Given the description of an element on the screen output the (x, y) to click on. 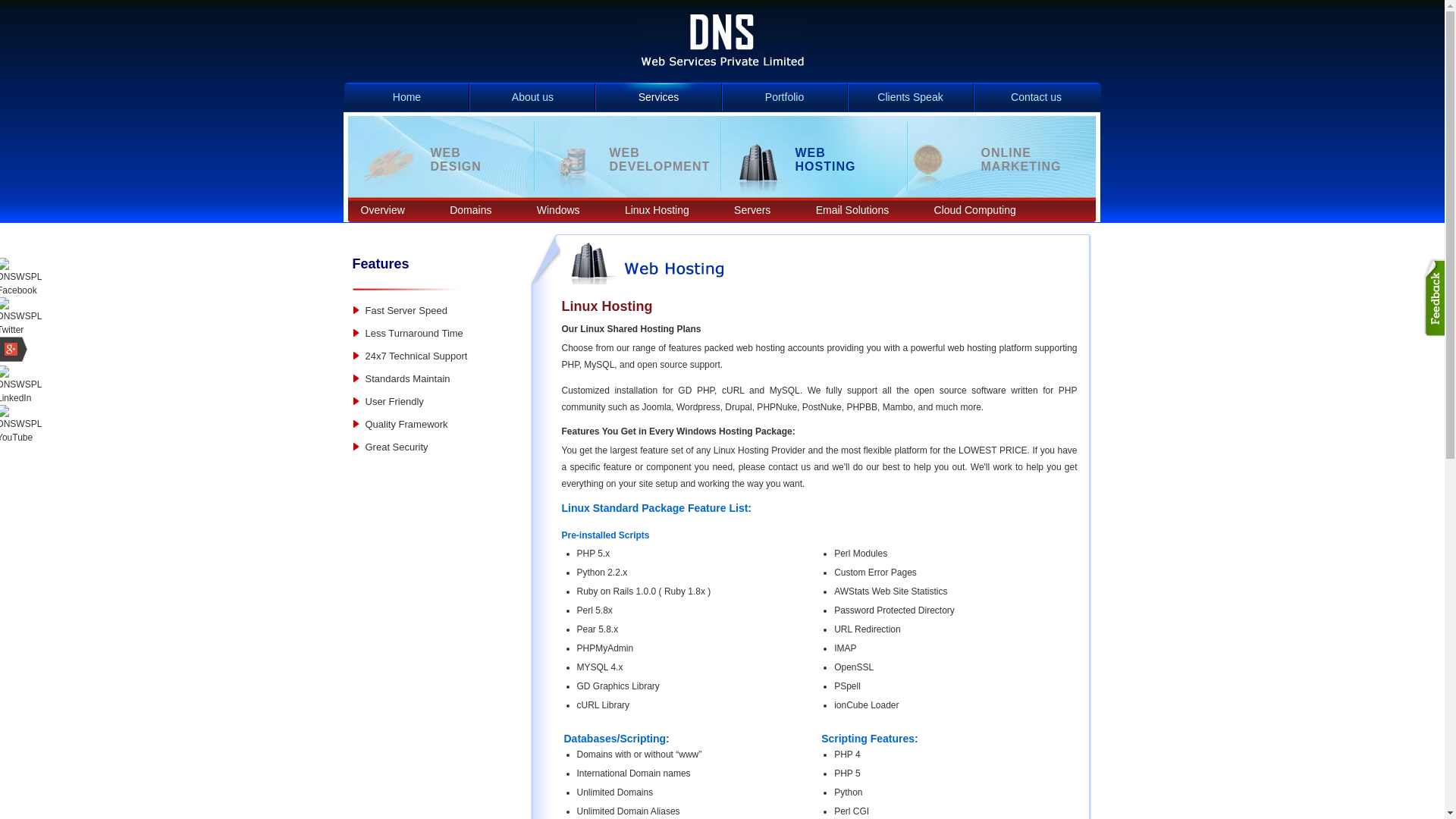
Windows (558, 209)
Domains (470, 209)
Portfolio (784, 97)
Email Solutions (852, 209)
Linux Hosting (657, 209)
Servers (751, 209)
Cloud Computing (974, 209)
About us (532, 97)
DNSWSPL Facebook (21, 290)
Home (406, 97)
DNSWSPL Twitter (997, 154)
